Given the description of an element on the screen output the (x, y) to click on. 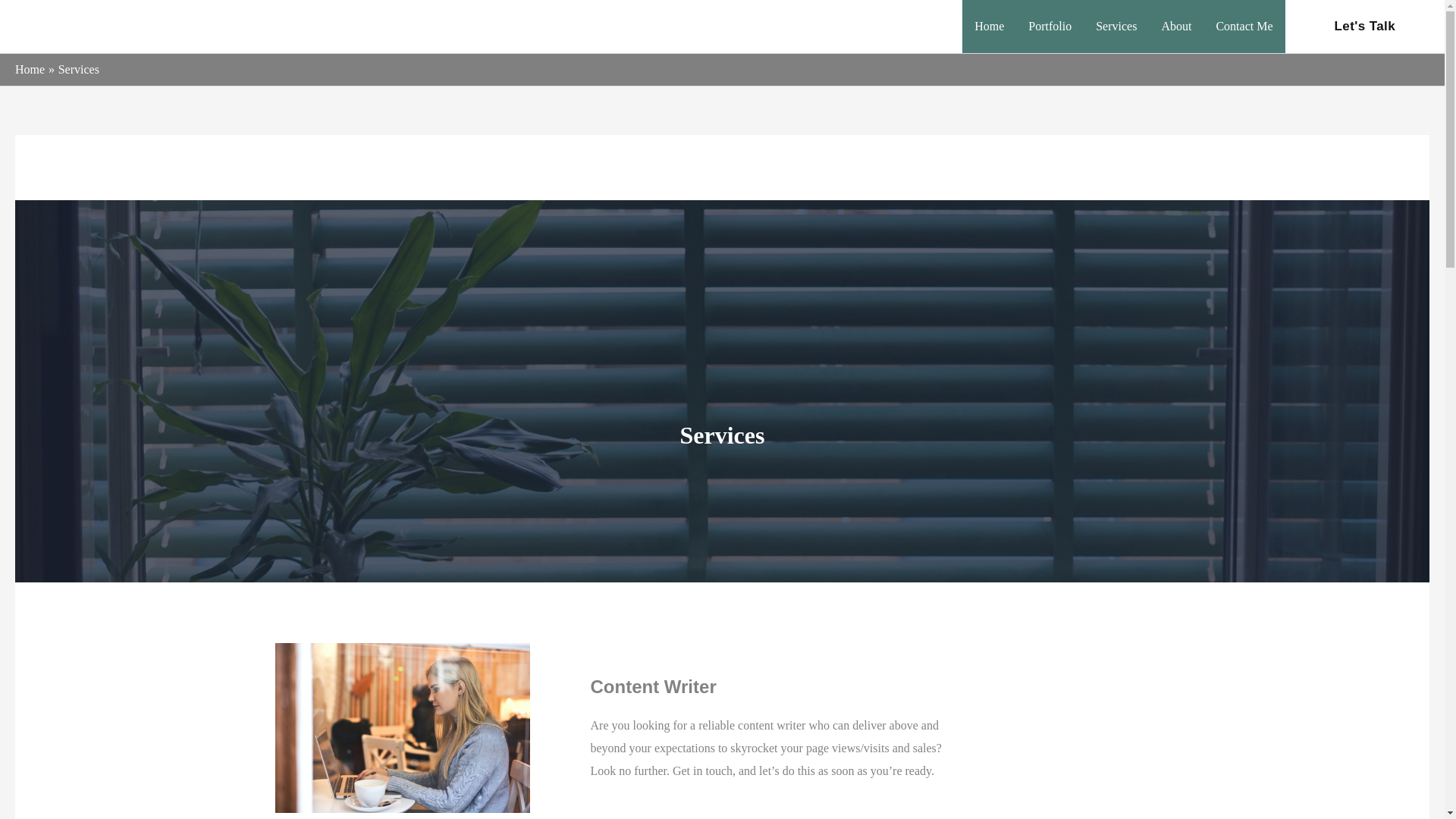
Home (29, 69)
Services (1115, 26)
Portfolio (1049, 26)
Contact Me (1244, 26)
Let'S Talk (1364, 26)
About (1176, 26)
Home (989, 26)
